Given the description of an element on the screen output the (x, y) to click on. 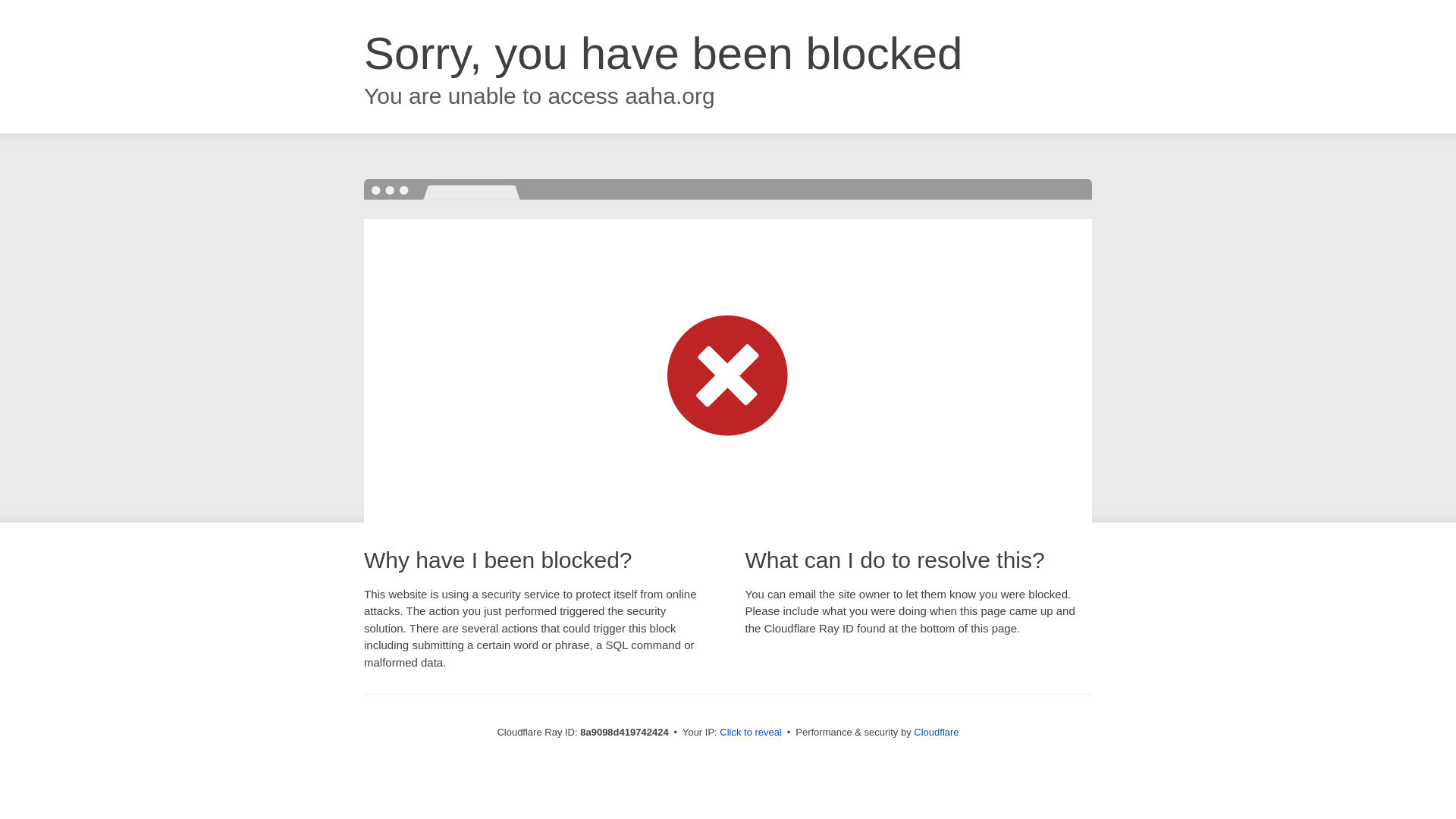
Click to reveal (750, 732)
Cloudflare (936, 731)
